Given the description of an element on the screen output the (x, y) to click on. 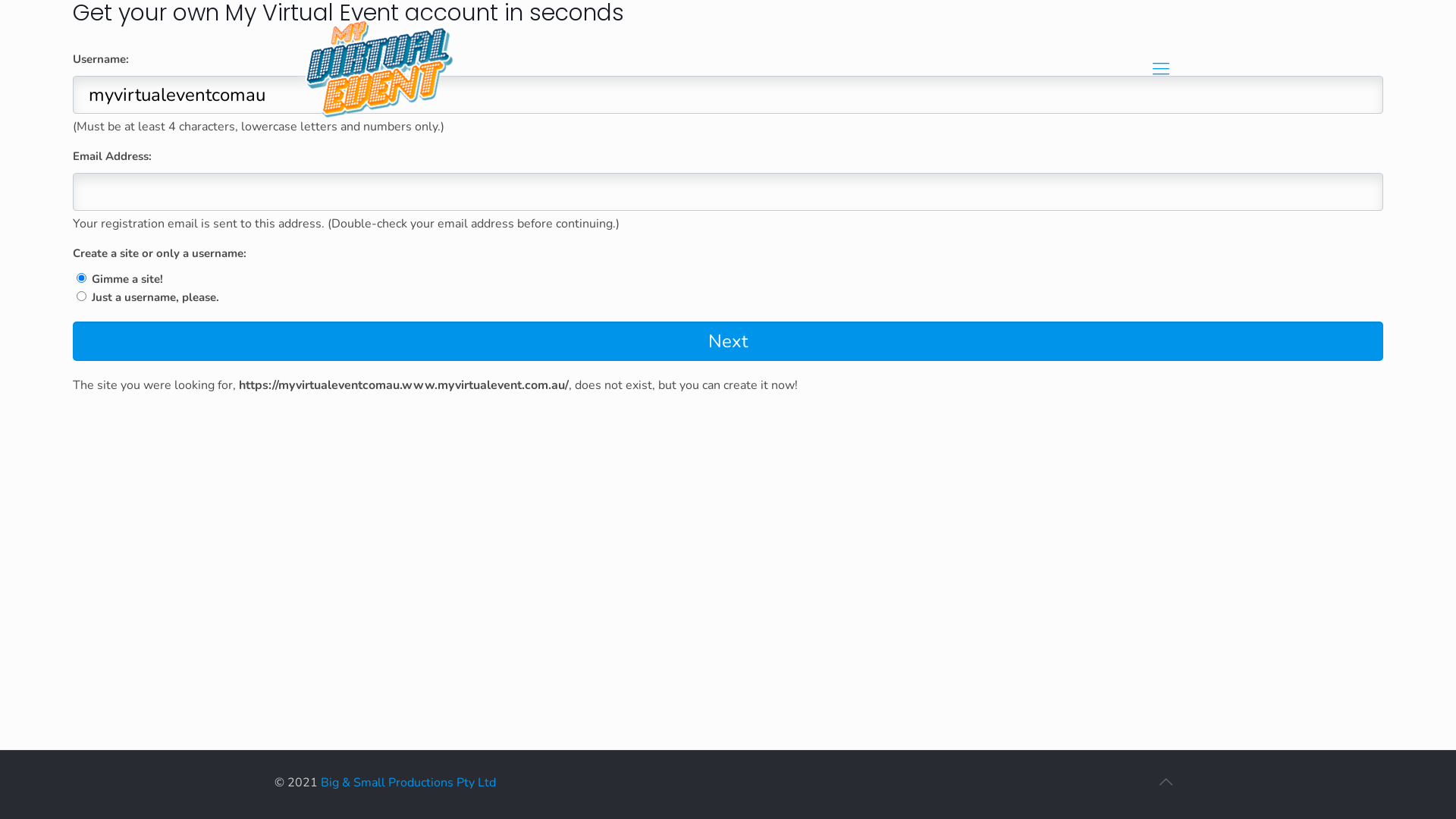
Big & Small Productions Pty Ltd Element type: text (407, 782)
My Virtual Event Platform Australia Element type: hover (386, 74)
Next Element type: text (727, 340)
